Given the description of an element on the screen output the (x, y) to click on. 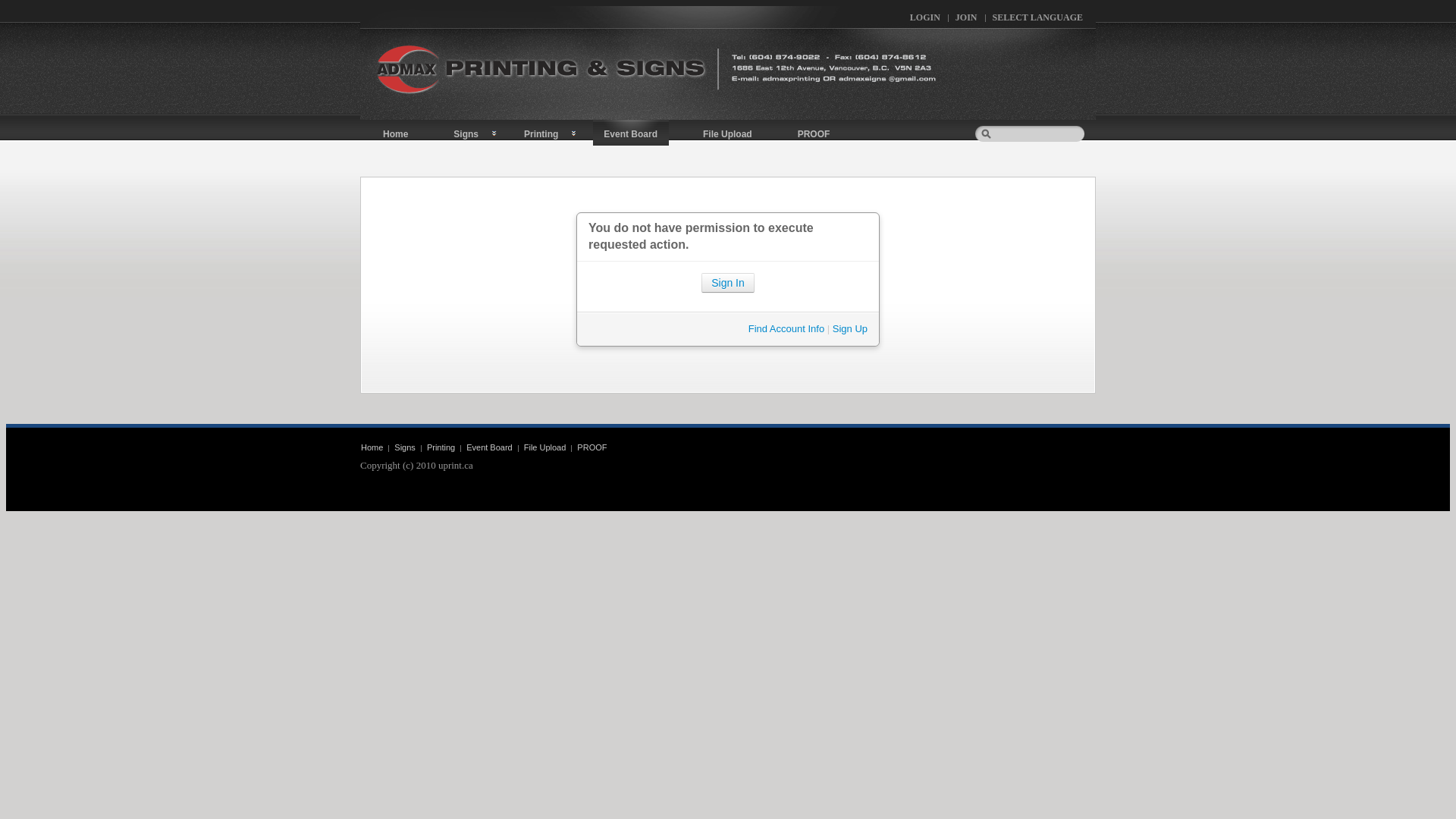
Home Element type: text (371, 446)
Sign Up Element type: text (849, 328)
Find Account Info Element type: text (786, 328)
LOGIN Element type: text (925, 17)
PROOF Element type: text (591, 446)
PROOF Element type: text (814, 132)
Printing Element type: text (440, 446)
JOIN Element type: text (966, 17)
Home Element type: text (395, 132)
keyword Element type: hover (1028, 133)
SELECT LANGUAGE Element type: text (1037, 17)
Signs Element type: text (465, 132)
Event Board Element type: text (489, 446)
Printing Element type: text (540, 132)
Sign In Element type: text (727, 282)
Search Element type: hover (983, 110)
Search Element type: text (983, 110)
File Upload Element type: text (727, 132)
Event Board Element type: text (630, 132)
Signs Element type: text (404, 446)
File Upload Element type: text (544, 446)
